Given the description of an element on the screen output the (x, y) to click on. 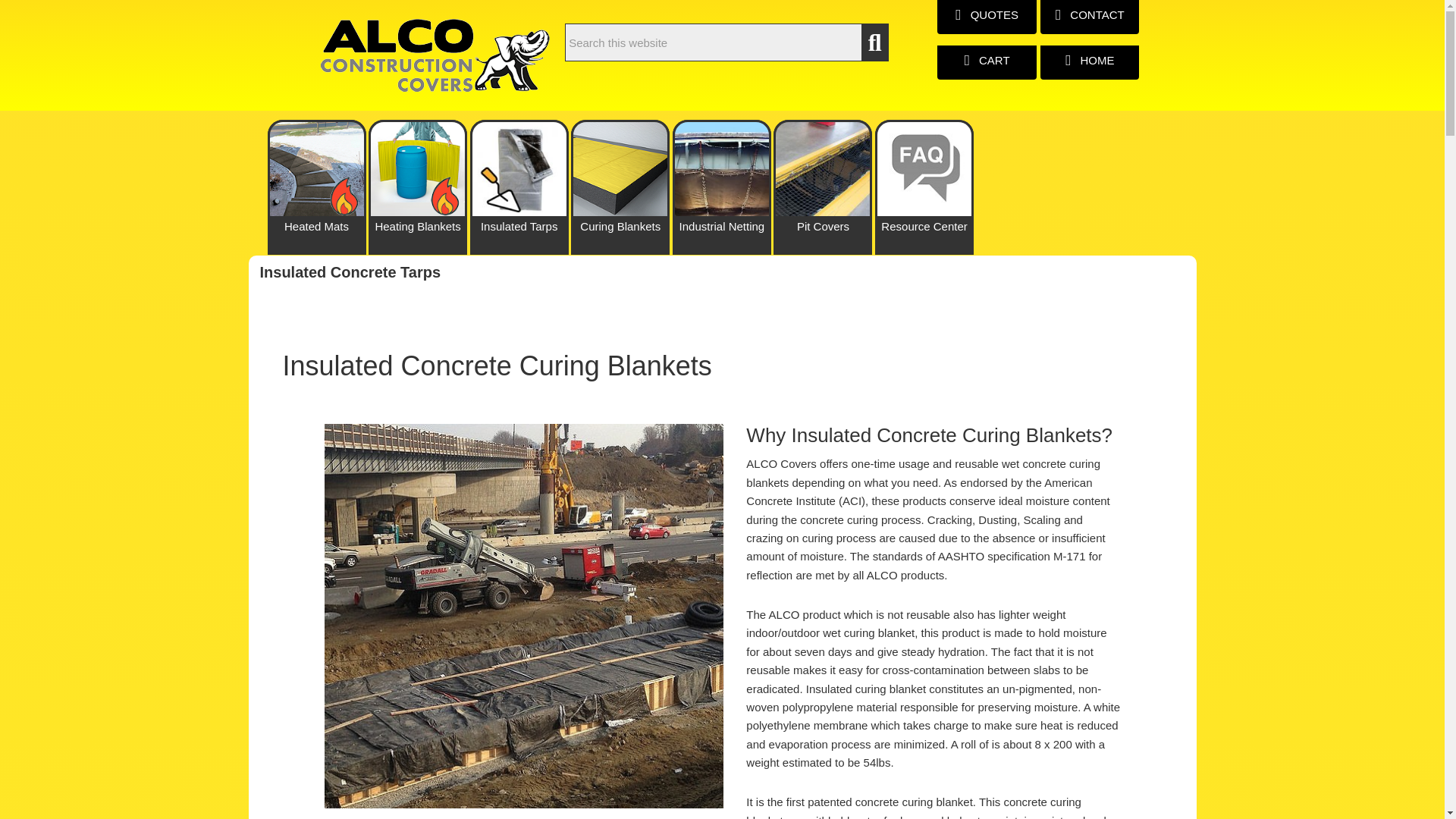
QUOTES (986, 17)
CART (986, 62)
alco-cc-logo-newester (435, 55)
HOME (1089, 62)
CONTACT (1089, 17)
